Given the description of an element on the screen output the (x, y) to click on. 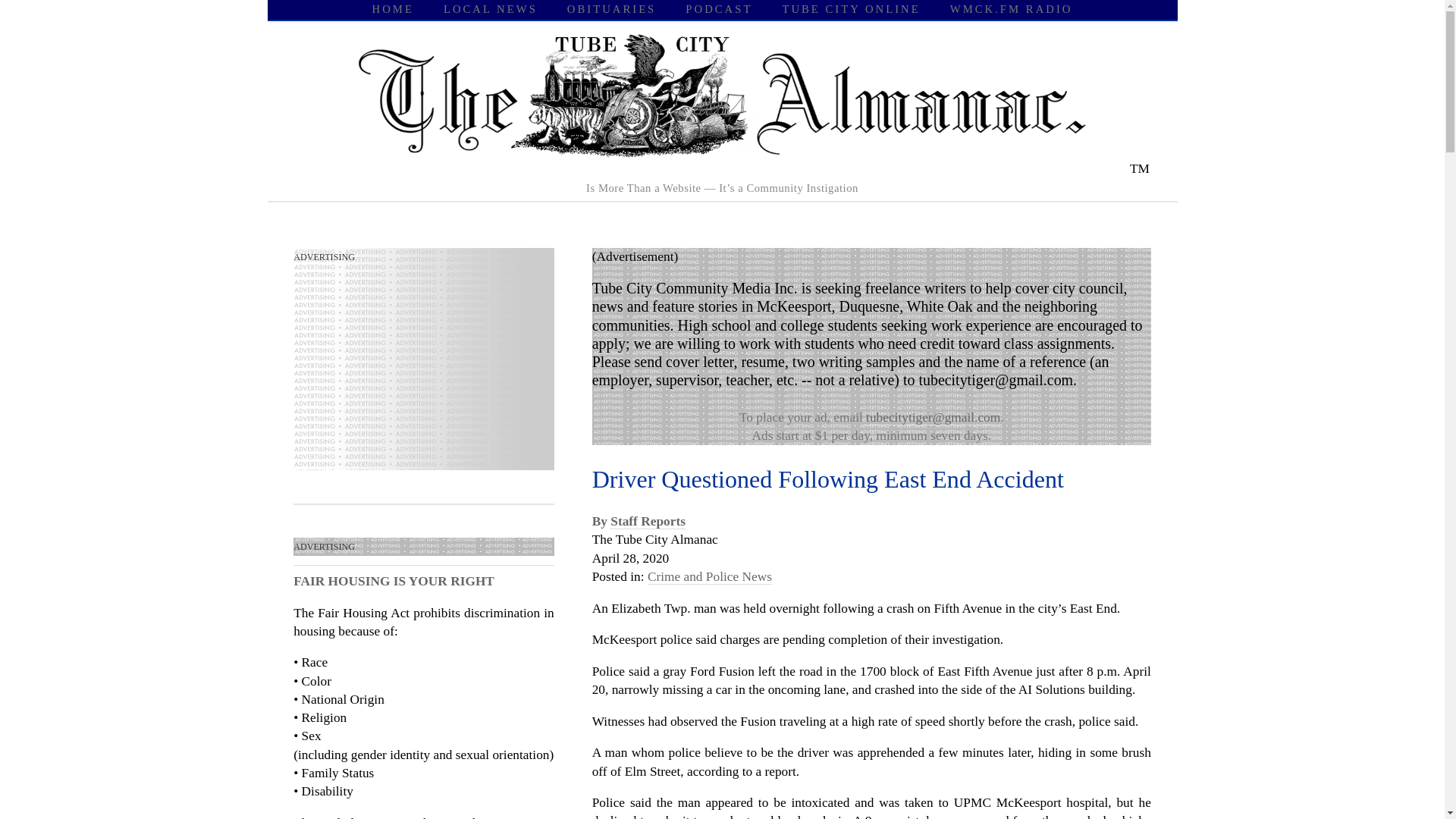
PODCAST (718, 9)
TM (722, 168)
HOME (392, 9)
TUBE CITY ONLINE (850, 9)
Advertisement (407, 370)
LOCAL NEWS (490, 9)
OBITUARIES (611, 9)
WMCK.FM RADIO (1011, 9)
